Given the description of an element on the screen output the (x, y) to click on. 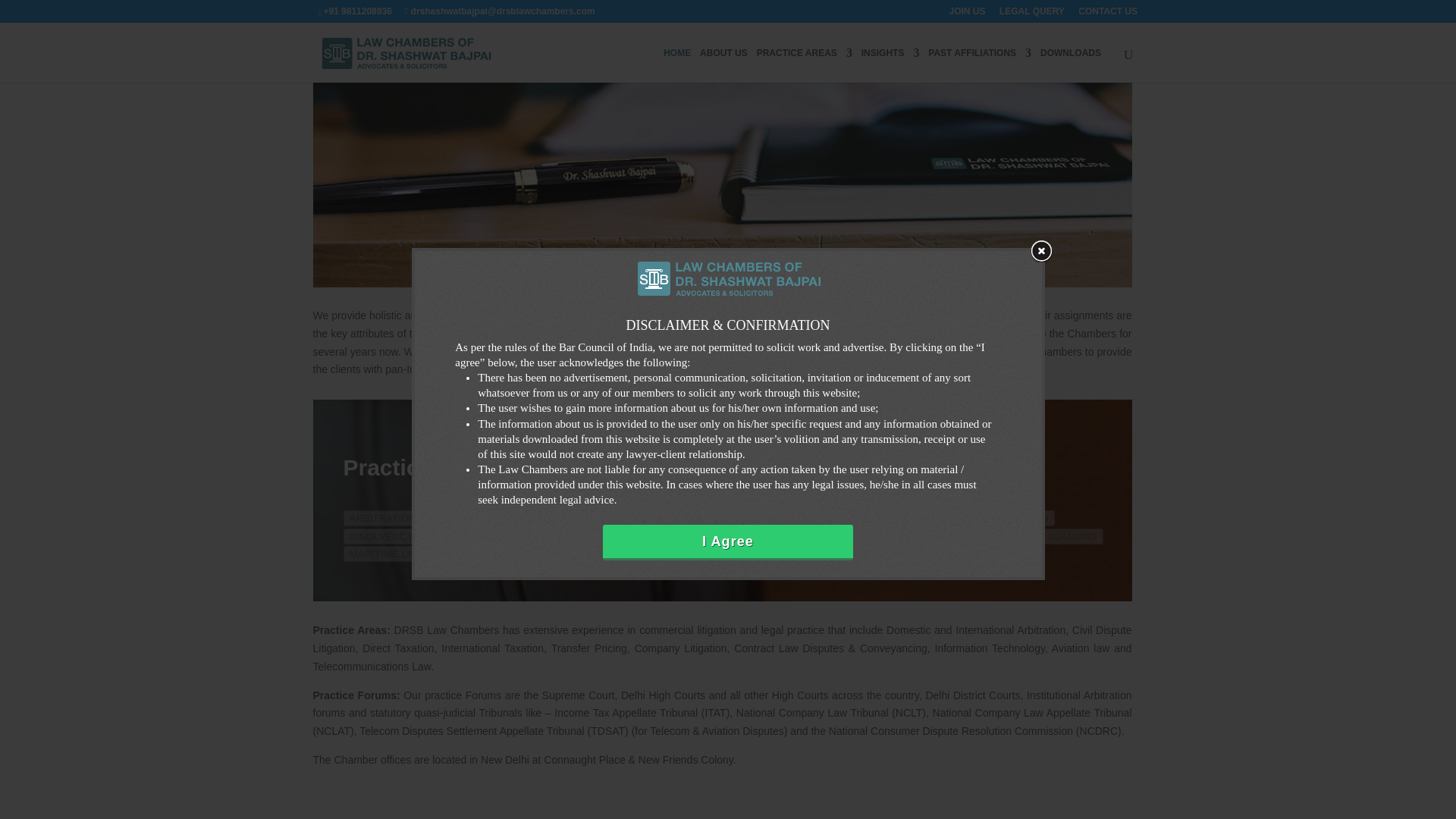
INSIGHTS (890, 65)
DOWNLOADS (1070, 65)
LEGAL QUERY (1031, 14)
JOIN US (967, 14)
CONTACT US (1107, 14)
ABOUT US (724, 65)
PRACTICE AREAS (804, 65)
PAST AFFILIATIONS (979, 65)
